Given the description of an element on the screen output the (x, y) to click on. 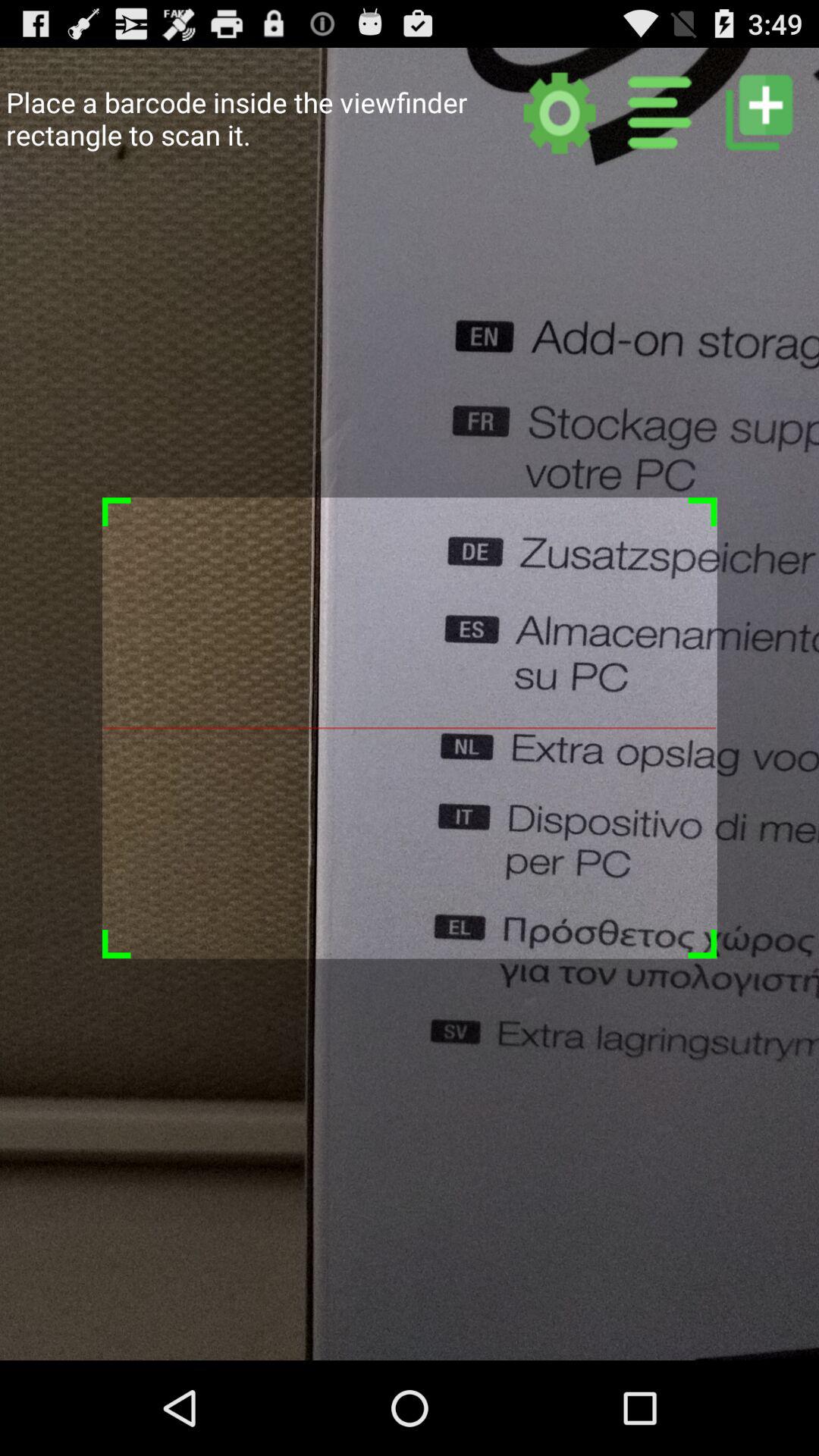
click the item to the right of place a barcode item (560, 112)
